Given the description of an element on the screen output the (x, y) to click on. 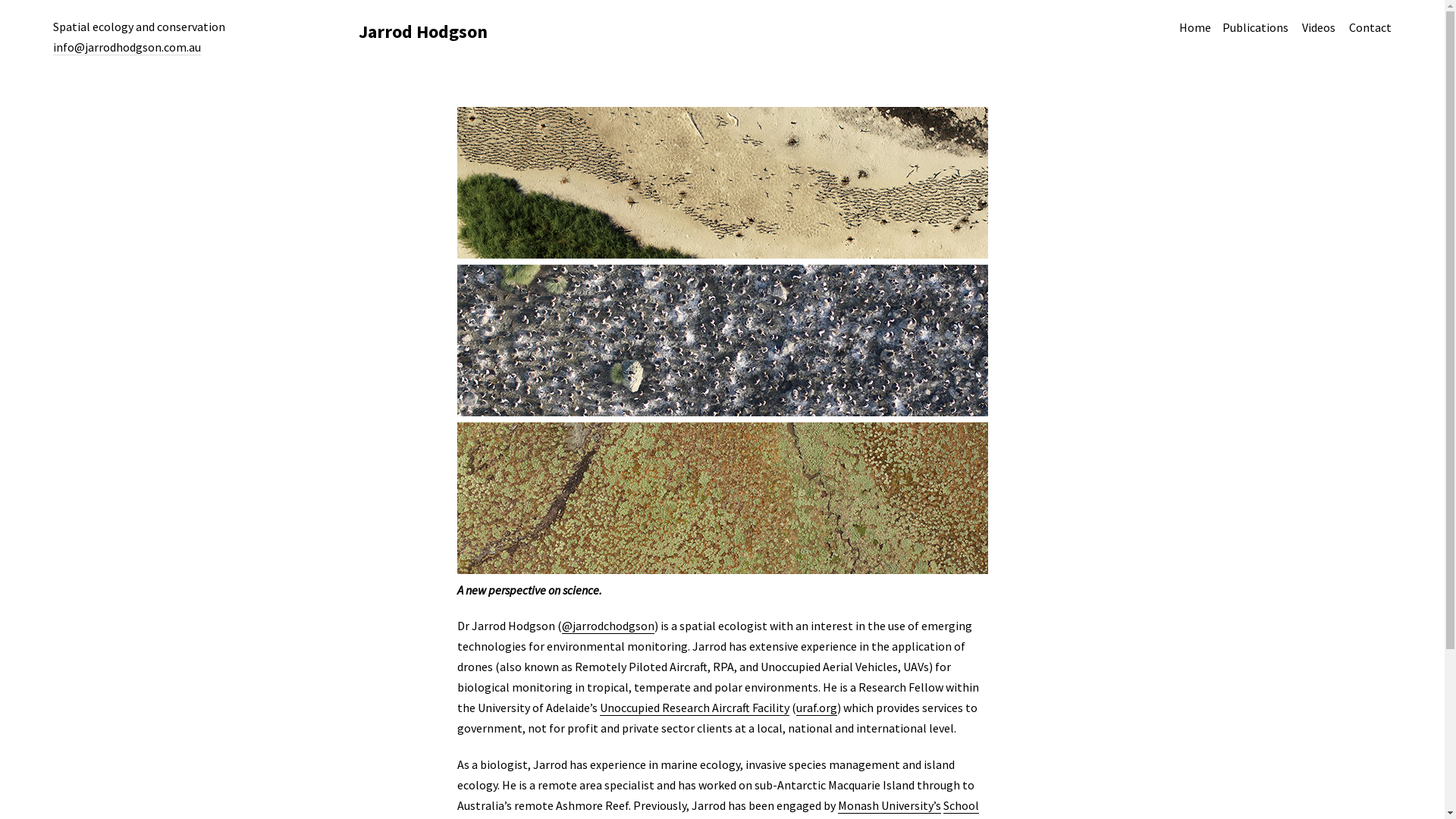
Contact Element type: text (1370, 27)
@jarrodchodgson Element type: text (607, 625)
Home Element type: text (1195, 27)
Videos Element type: text (1318, 27)
uraf.org Element type: text (816, 707)
Publications Element type: text (1255, 27)
Jarrod Hodgson Element type: text (421, 31)
Unoccupied Research Aircraft Facility Element type: text (693, 707)
info@jarrodhodgson.com.au Element type: text (126, 47)
